Given the description of an element on the screen output the (x, y) to click on. 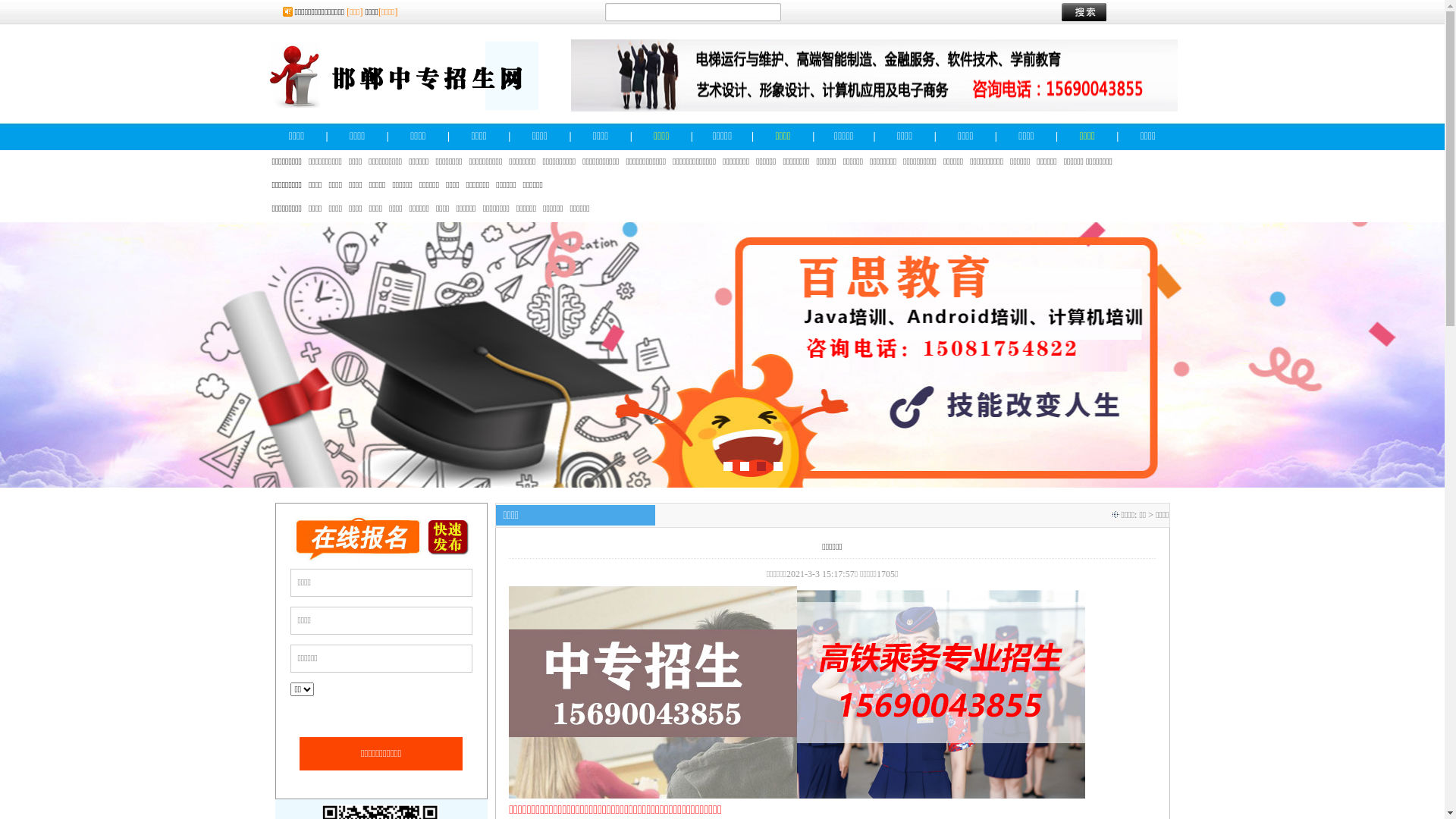
2 Element type: text (744, 465)
3 Element type: text (760, 465)
1 Element type: text (727, 465)
4 Element type: text (777, 465)
